Given the description of an element on the screen output the (x, y) to click on. 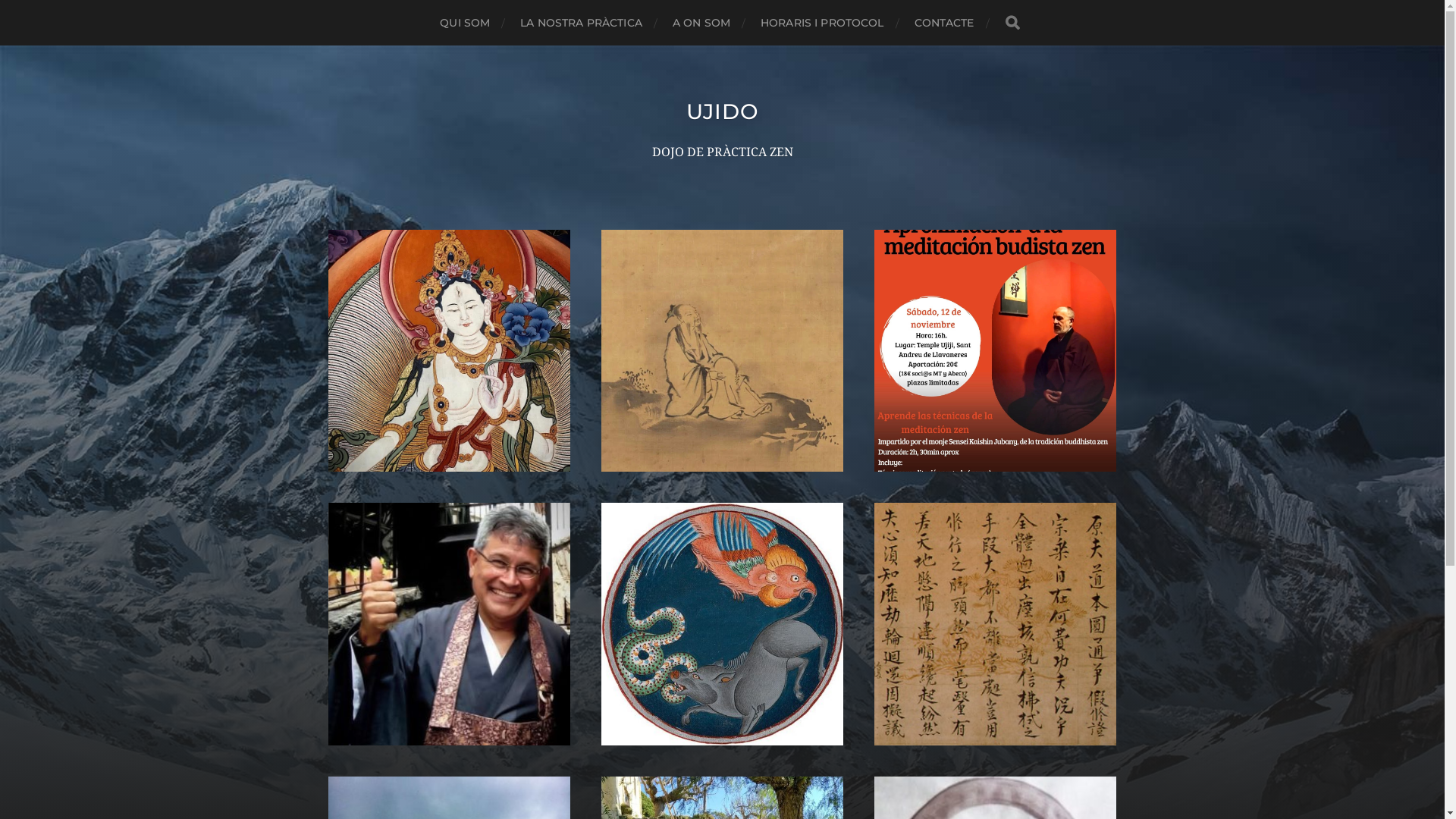
CONTACTE Element type: text (944, 22)
UJIDO Element type: text (722, 111)
QUI SOM Element type: text (464, 22)
A ON SOM Element type: text (701, 22)
HORARIS I PROTOCOL Element type: text (822, 22)
